Given the description of an element on the screen output the (x, y) to click on. 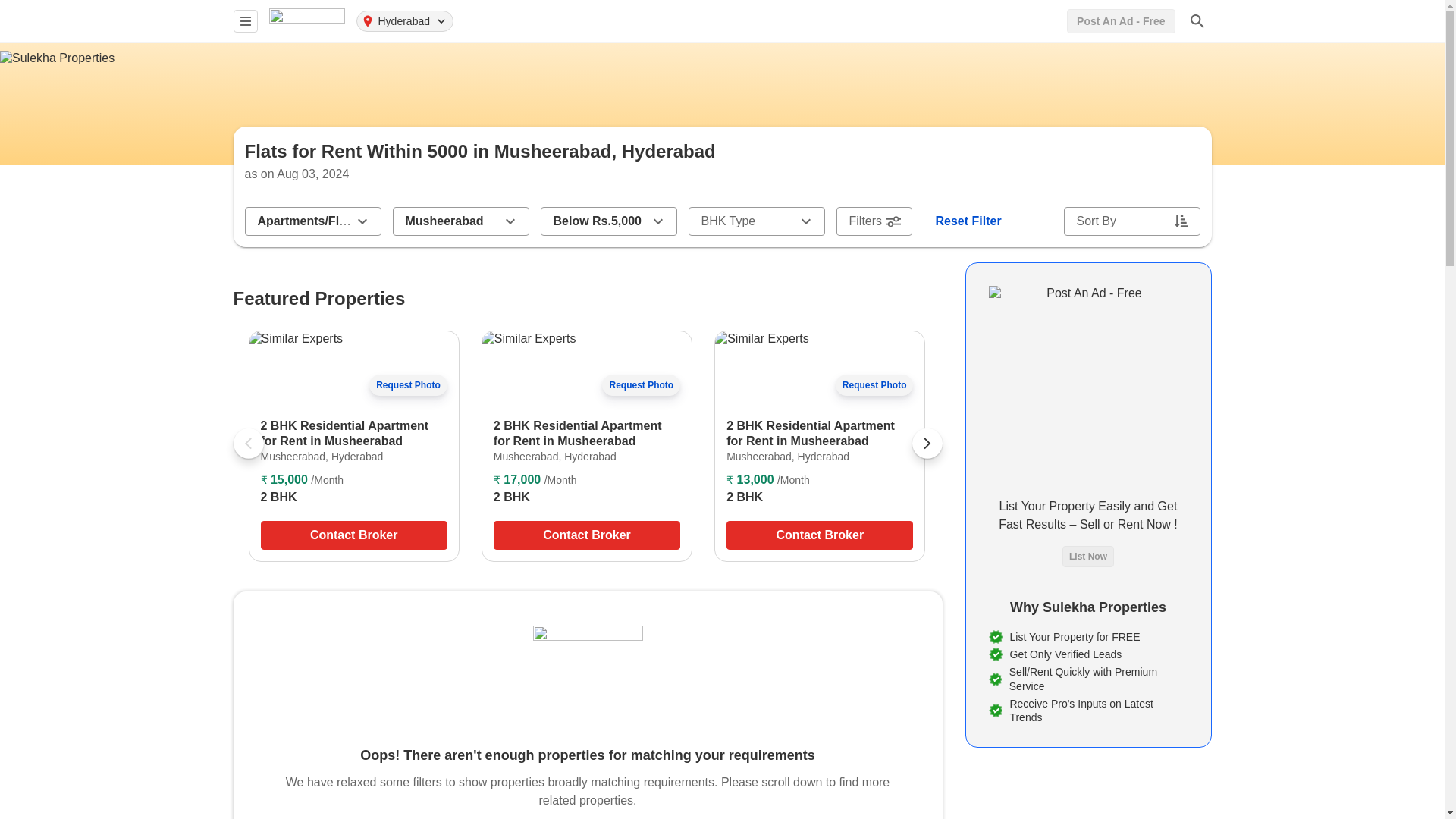
Post An Ad - Free (1120, 21)
Post An Ad - Free (1120, 21)
Sulekha Property (305, 20)
